Given the description of an element on the screen output the (x, y) to click on. 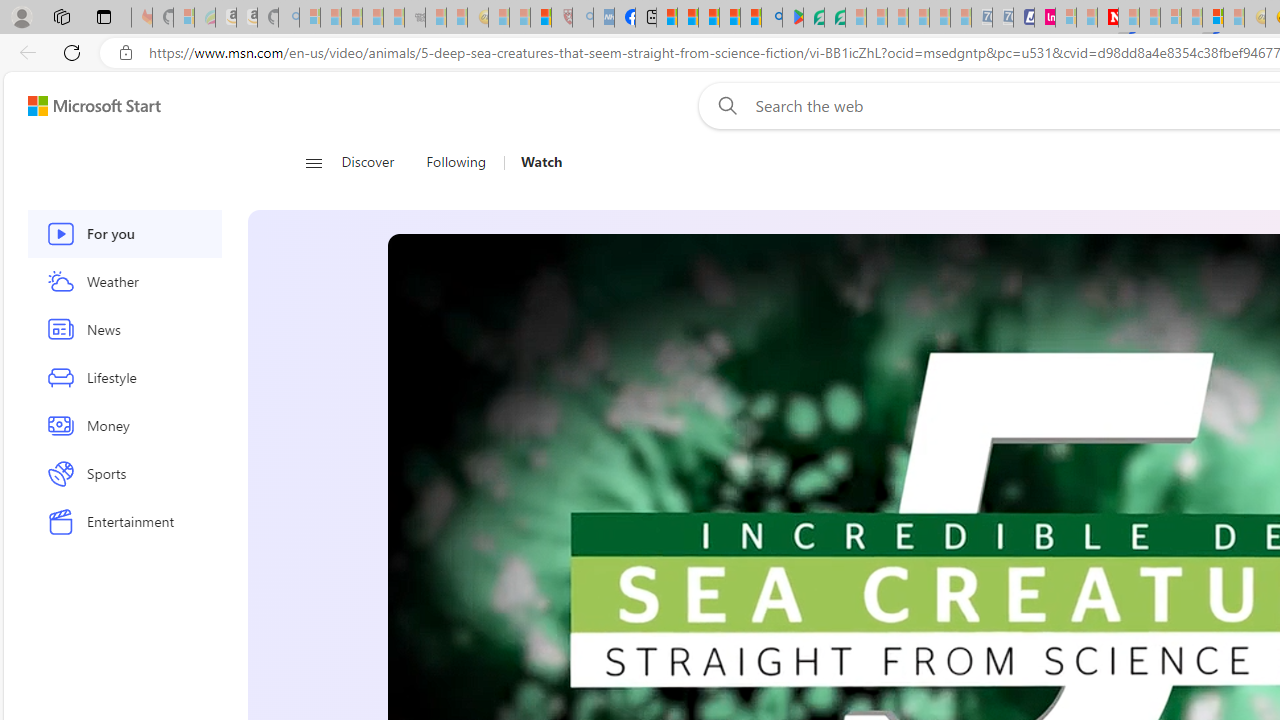
Jobs - lastminute.com Investor Portal (1044, 17)
Terms of Use Agreement (813, 17)
Robert H. Shmerling, MD - Harvard Health - Sleeping (561, 17)
Microsoft account | Privacy - Sleeping (1066, 17)
Watch (533, 162)
